Given the description of an element on the screen output the (x, y) to click on. 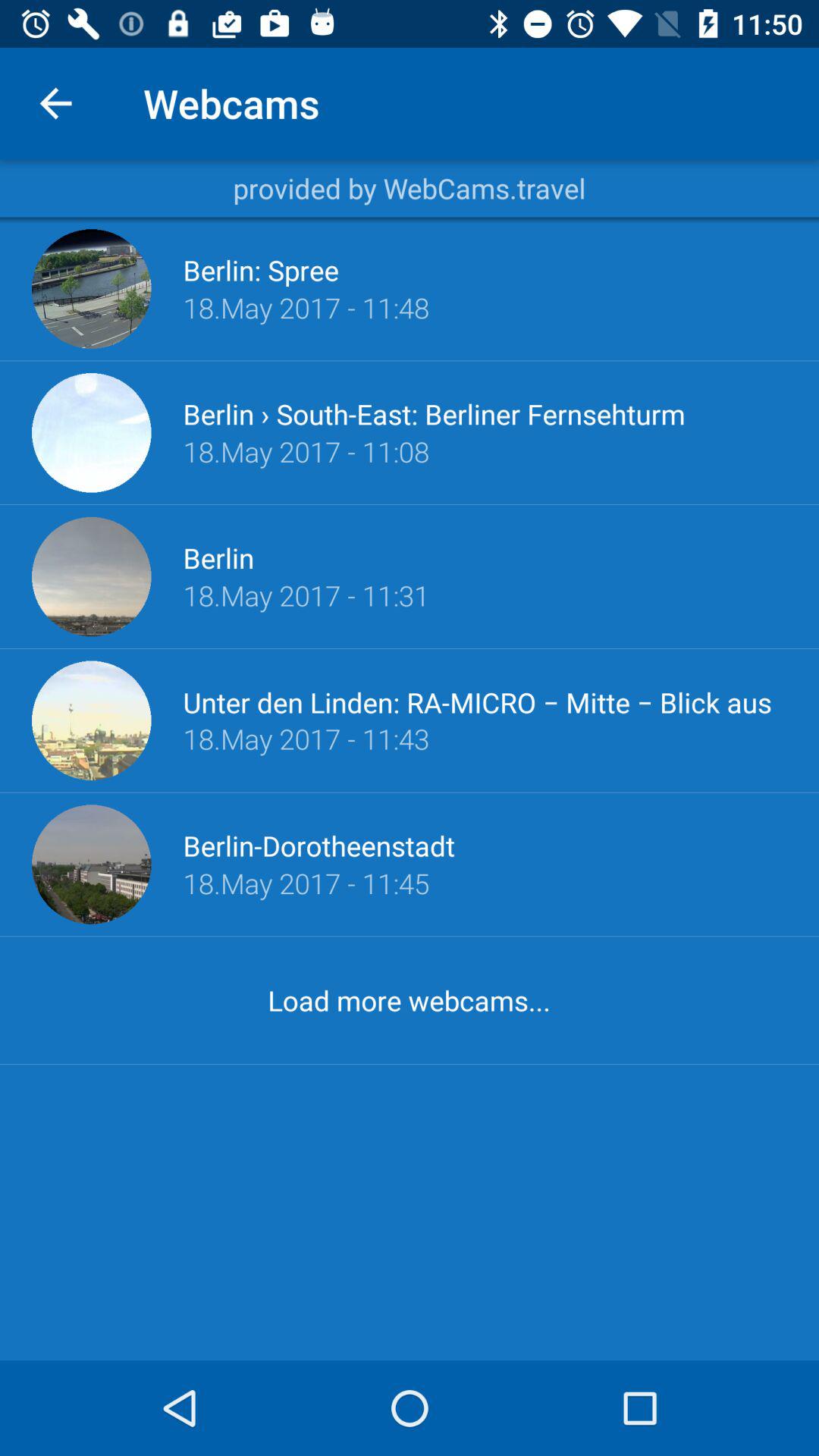
turn on berlin south east (434, 413)
